Given the description of an element on the screen output the (x, y) to click on. 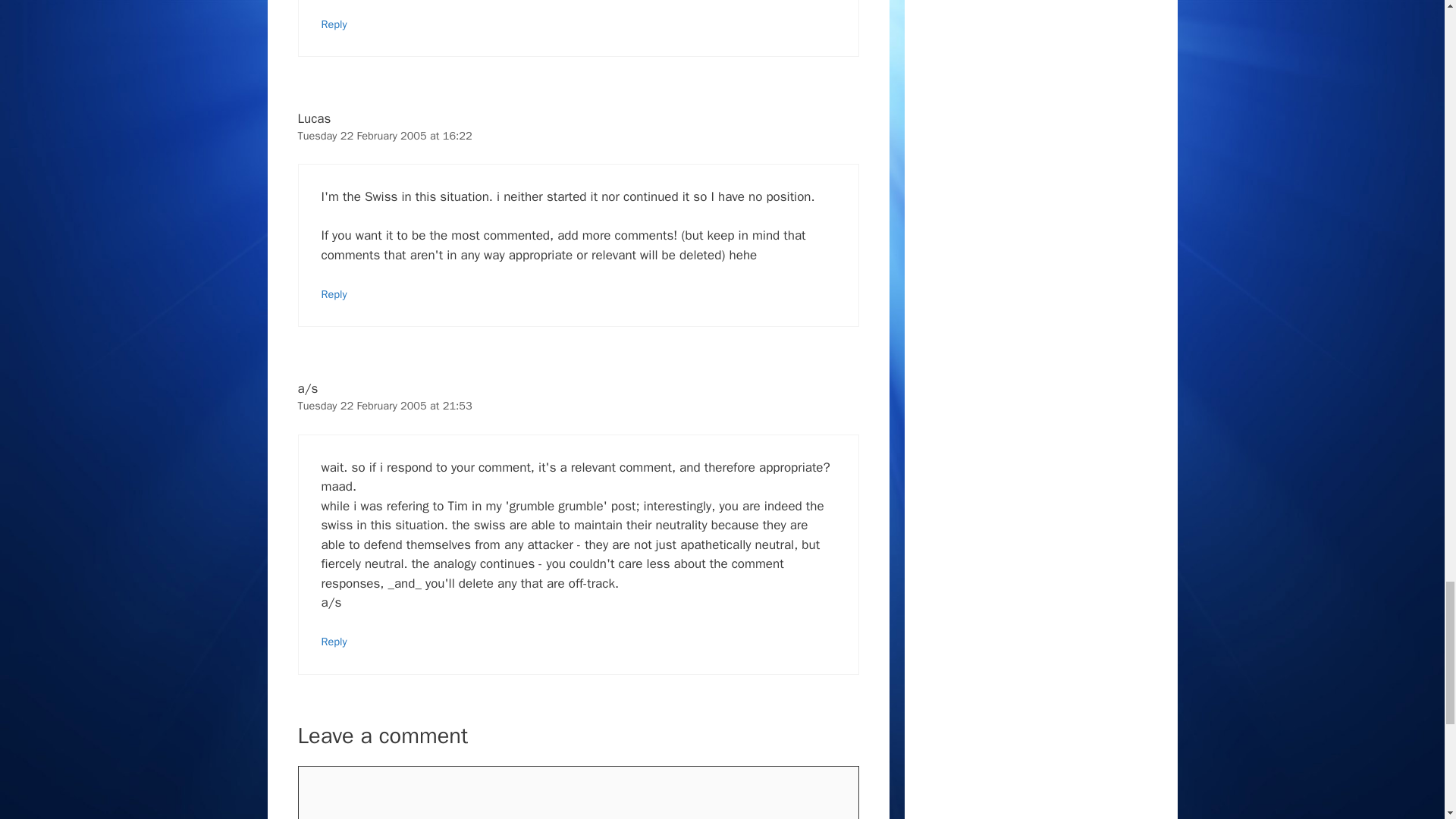
Reply (334, 641)
Reply (334, 294)
Tuesday 22 February 2005 at 21:53 (384, 405)
Tuesday 22 February 2005 at 16:22 (384, 135)
Reply (334, 24)
